Given the description of an element on the screen output the (x, y) to click on. 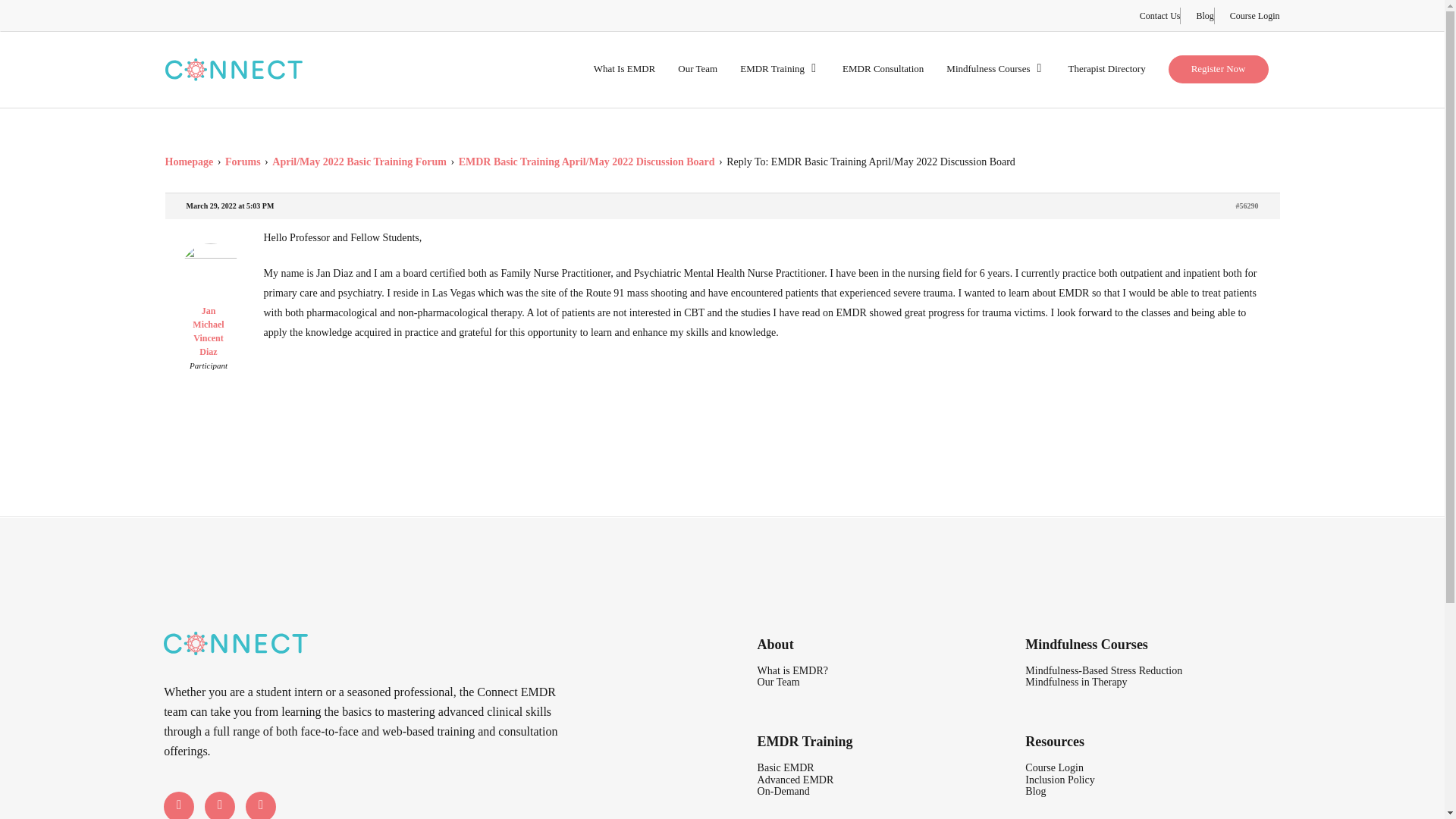
Mindfulness-Based Stress Reduction (1103, 670)
What Is EMDR (625, 69)
EMDR Training (779, 69)
Our Team (697, 69)
Our Team (778, 681)
EMDR Consultation (883, 69)
Homepage (189, 161)
Mindfulness Courses (995, 69)
Forums (242, 161)
Basic EMDR (785, 767)
On-Demand (783, 790)
Register Now (1218, 68)
Blog (1204, 15)
Mindfulness in Therapy (1075, 681)
Therapist Directory (1105, 69)
